Given the description of an element on the screen output the (x, y) to click on. 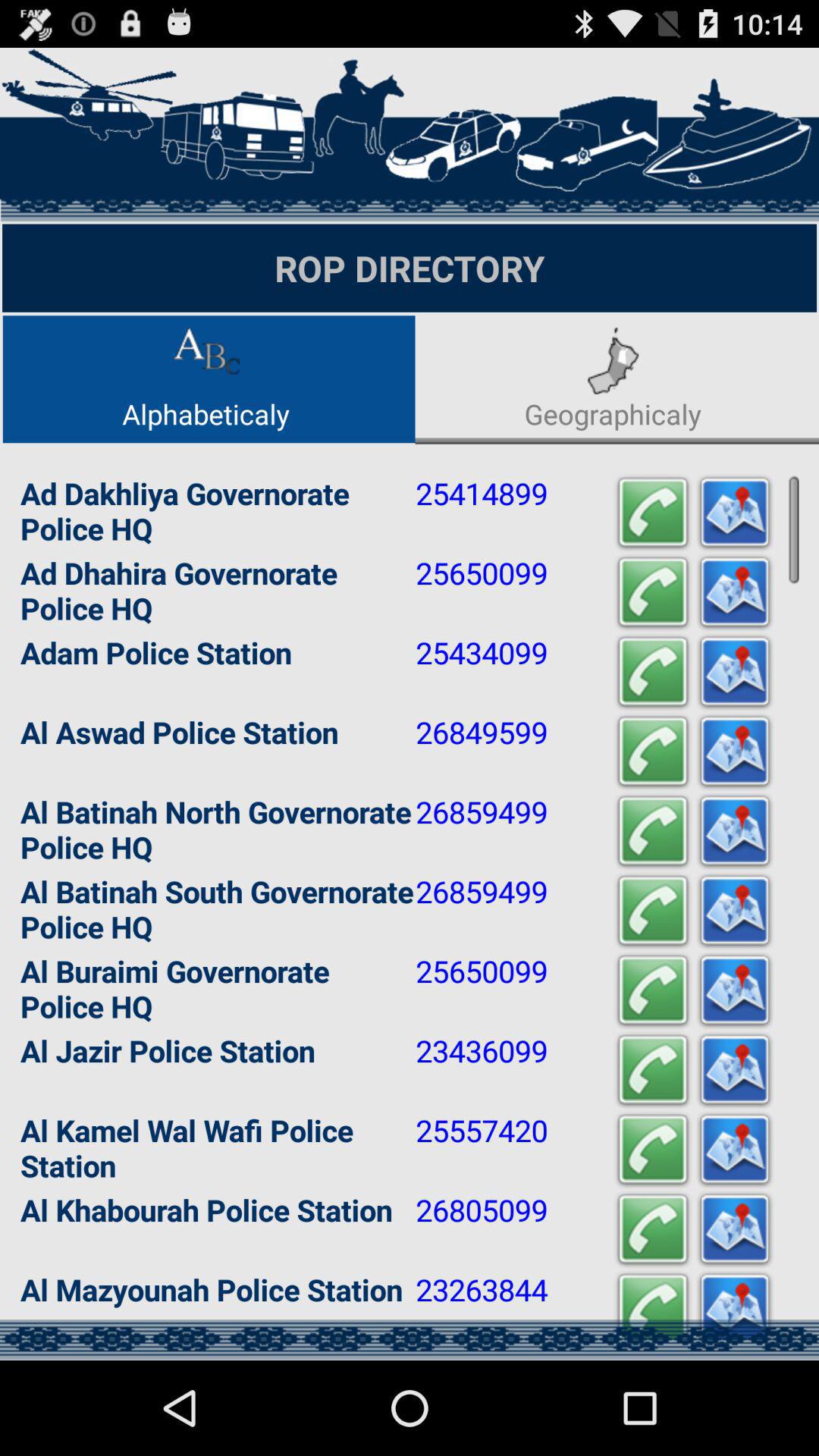
show location (734, 1309)
